Given the description of an element on the screen output the (x, y) to click on. 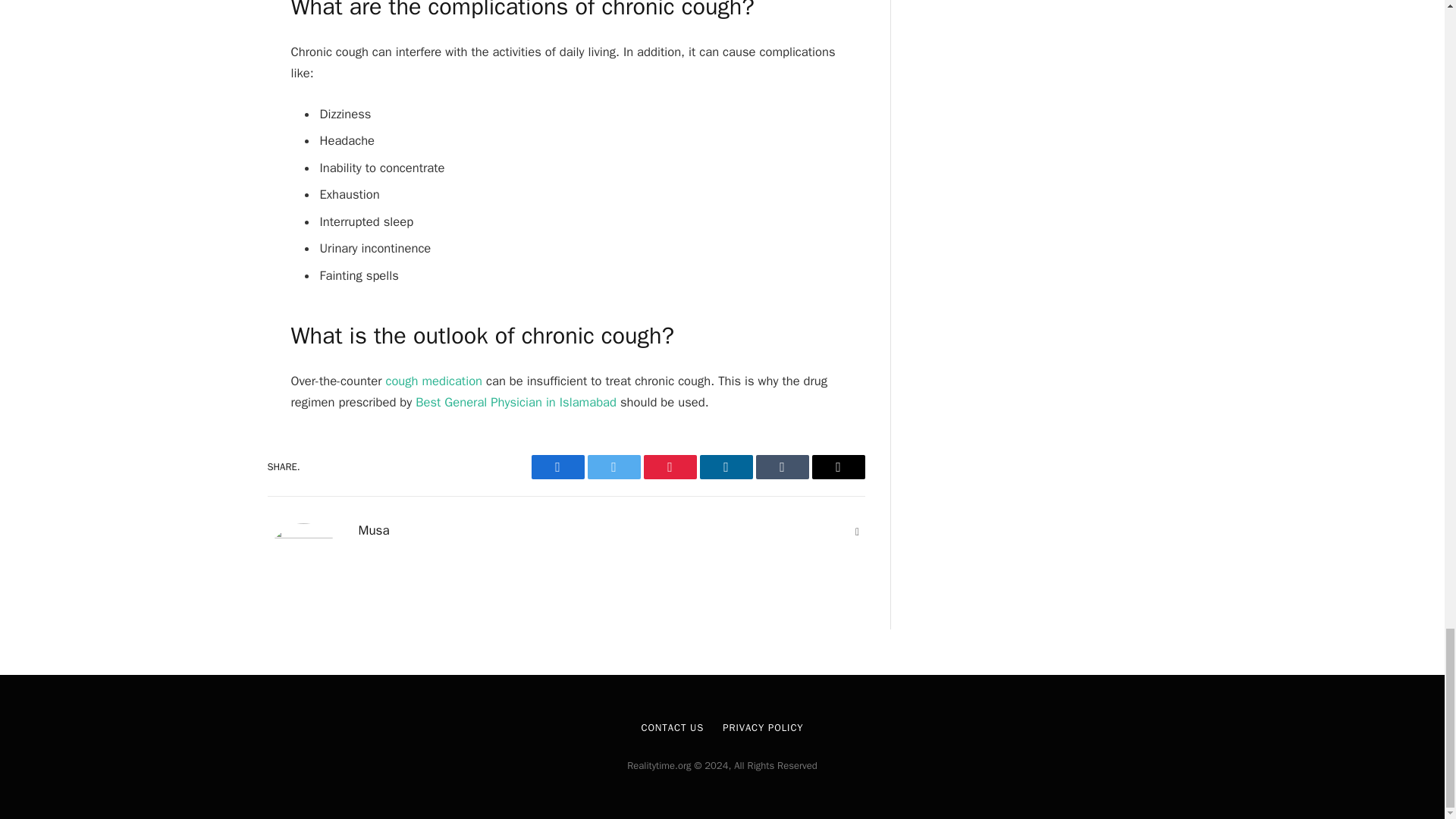
Facebook (557, 467)
cough medication (433, 381)
Best General Physician in Islamabad (514, 401)
